Given the description of an element on the screen output the (x, y) to click on. 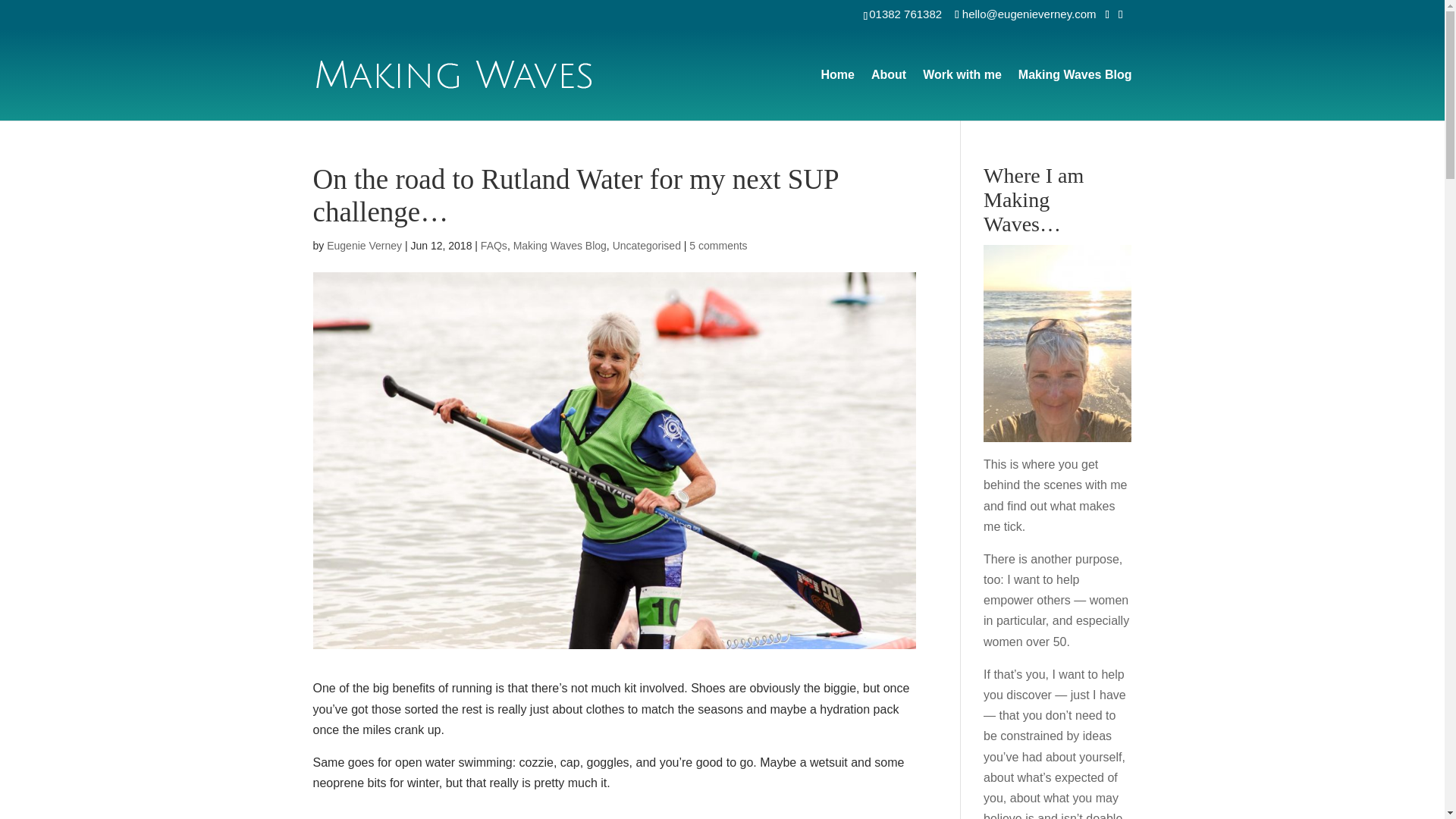
5 comments (717, 245)
FAQs (493, 245)
Eugenie Verney (363, 245)
Making Waves Blog (560, 245)
Uncategorised (646, 245)
Work with me (962, 94)
Making Waves Blog (1074, 94)
Posts by Eugenie Verney (363, 245)
